Given the description of an element on the screen output the (x, y) to click on. 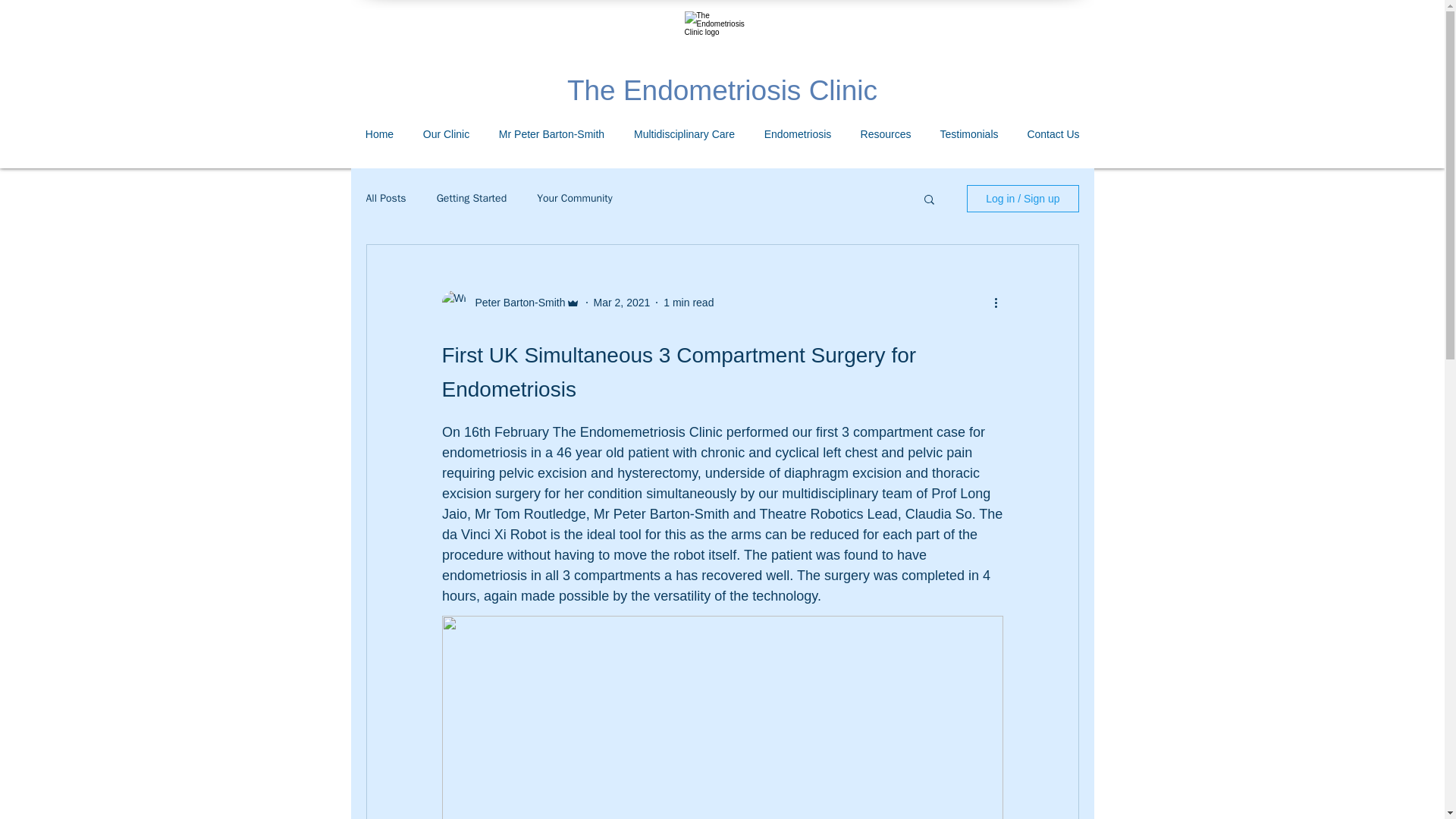
Multidisciplinary Care (683, 134)
All Posts (385, 198)
Peter Barton-Smith (514, 302)
Your Community (574, 198)
Mr Peter Barton-Smith (550, 134)
Testimonials (967, 134)
Home (378, 134)
Getting Started (471, 198)
1 min read (688, 301)
Mar 2, 2021 (622, 301)
